Given the description of an element on the screen output the (x, y) to click on. 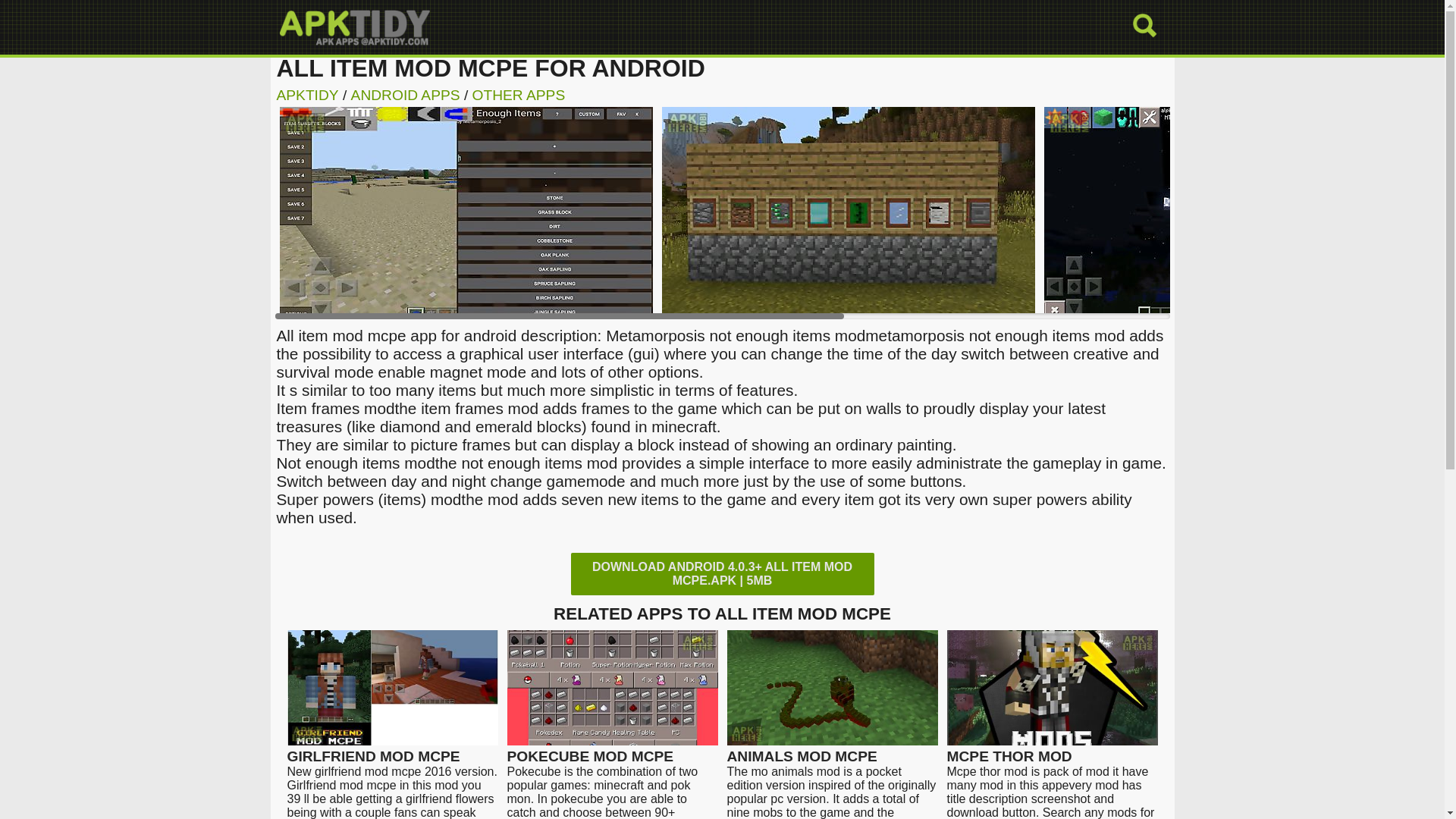
MCPE THOR MOD (1051, 749)
ANDROID APPS (405, 94)
APKTIDY (306, 94)
POKECUBE MOD MCPE (611, 749)
ANIMALS MOD MCPE (831, 749)
GIRLFRIEND MOD MCPE (391, 749)
